Given the description of an element on the screen output the (x, y) to click on. 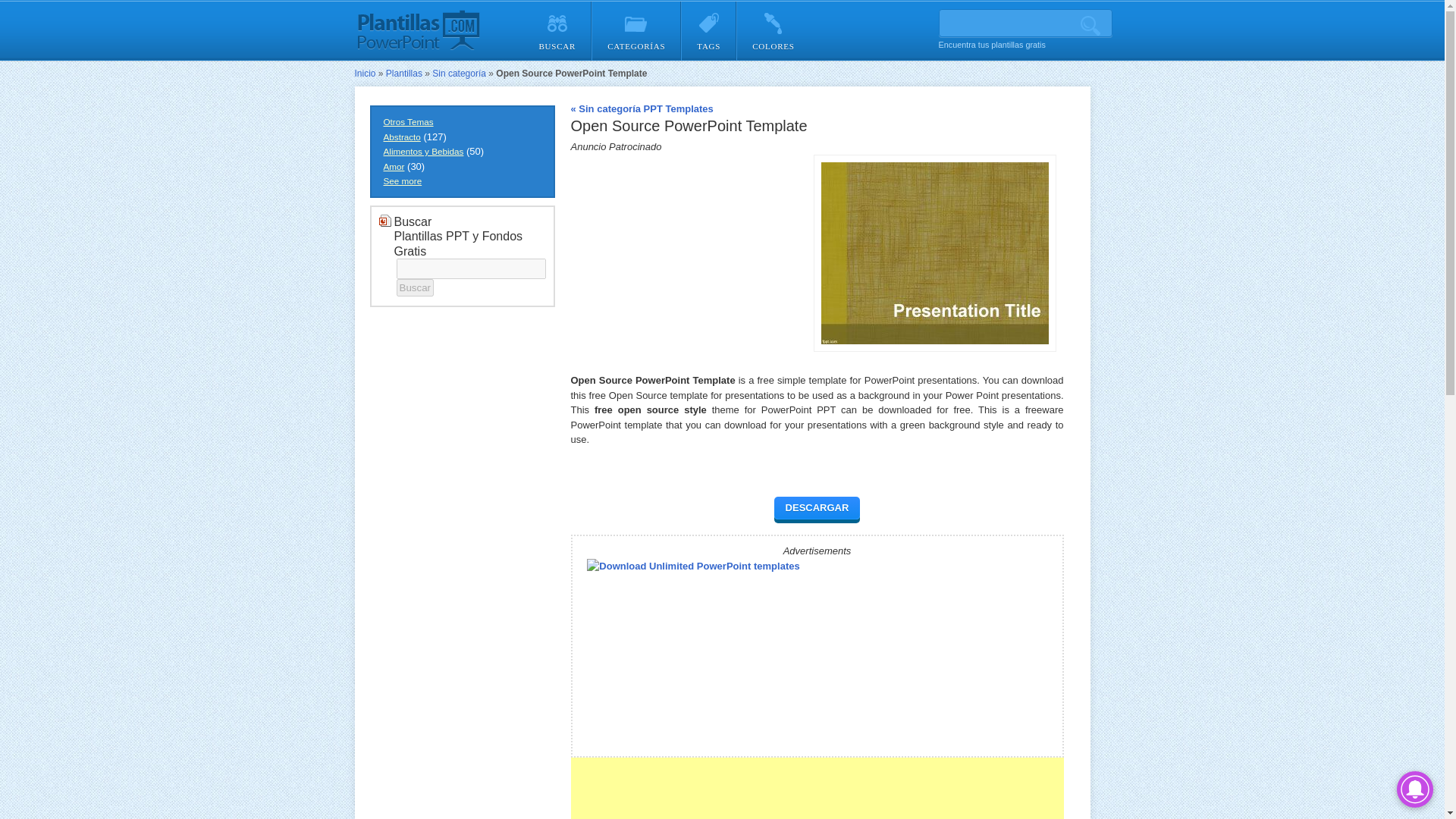
Advertisement (816, 787)
COLORES (772, 30)
3rd party ad content (940, 652)
BUSCAR (556, 30)
See more (400, 180)
Open source PowerPoint Template (933, 253)
3rd party ad content (683, 248)
Buscar (414, 287)
Amor (391, 165)
TAGS (708, 30)
DESCARGAR (817, 507)
More categories (400, 180)
Inicio (365, 72)
Alimentos y Bebidas (421, 151)
Buscar (414, 287)
